Given the description of an element on the screen output the (x, y) to click on. 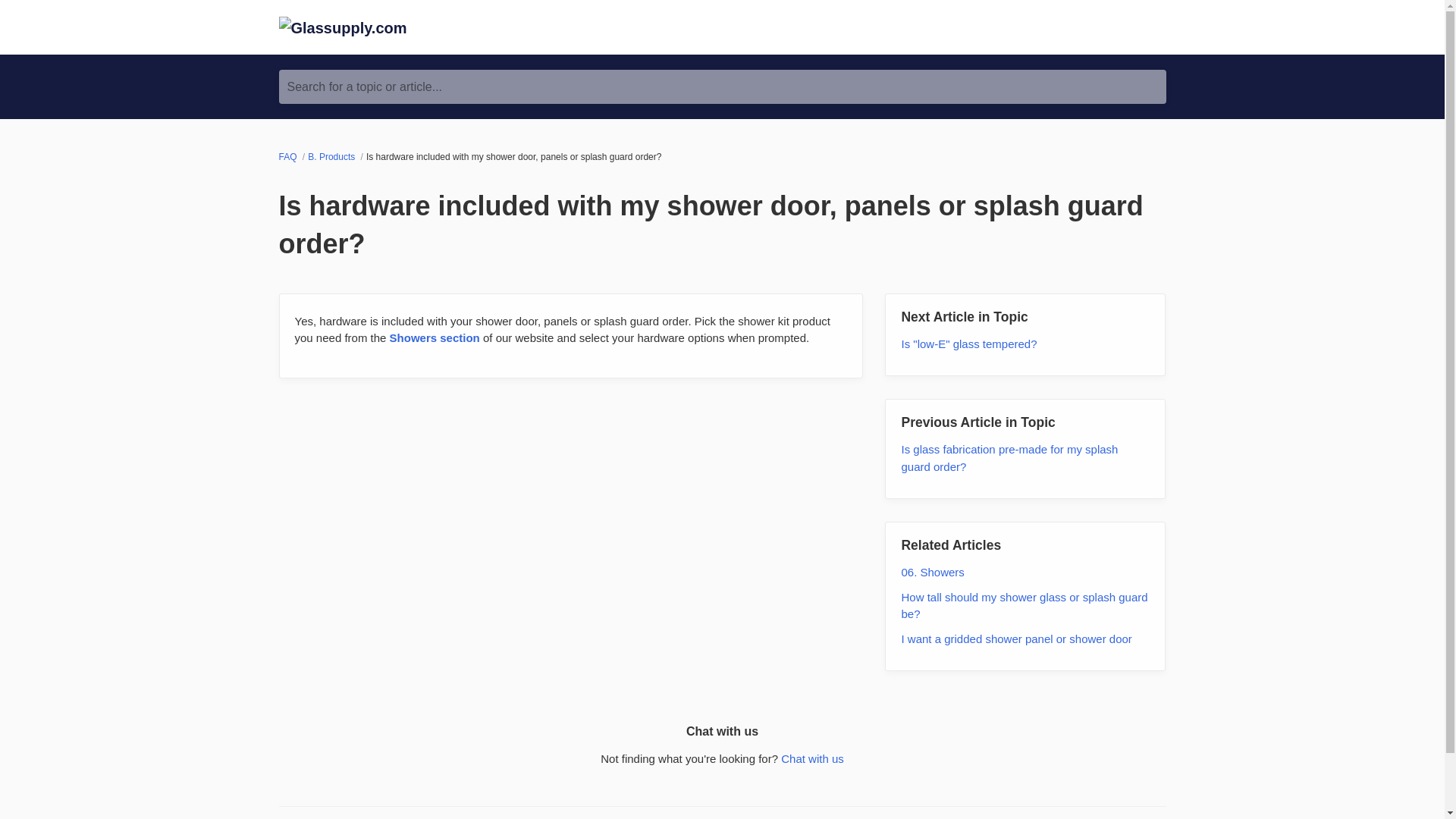
FAQ (289, 156)
Is "low-E" glass tempered? (968, 343)
How tall should my shower glass or splash guard be? (1024, 605)
Is glass fabrication pre-made for my splash guard order? (1009, 458)
Chat with us (812, 758)
I want a gridded shower panel or shower door (1016, 638)
06. Showers (932, 571)
B. Products (331, 156)
Showers section (435, 337)
